Given the description of an element on the screen output the (x, y) to click on. 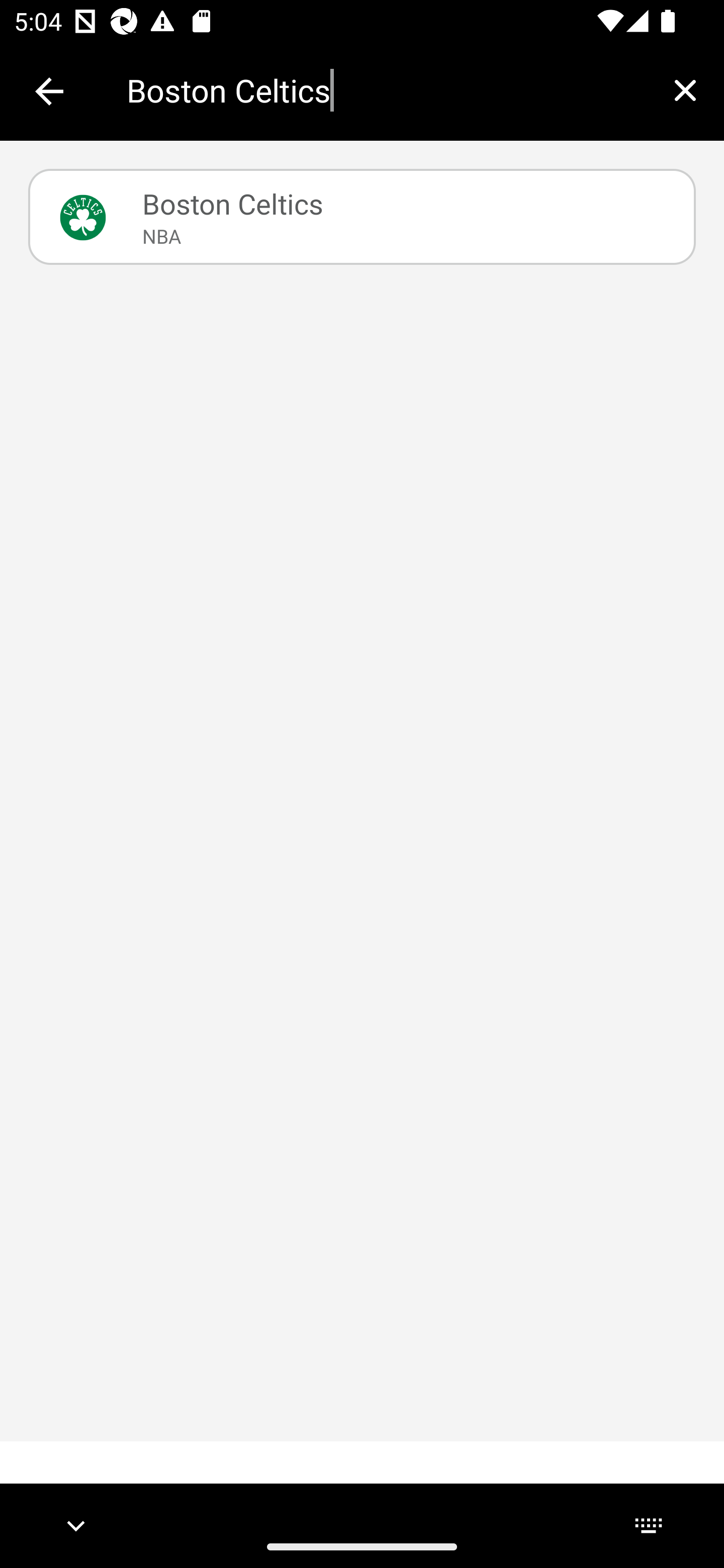
Collapse (49, 91)
Clear query (685, 89)
Boston Celtics (386, 90)
Boston Celtics NBA (361, 216)
